Given the description of an element on the screen output the (x, y) to click on. 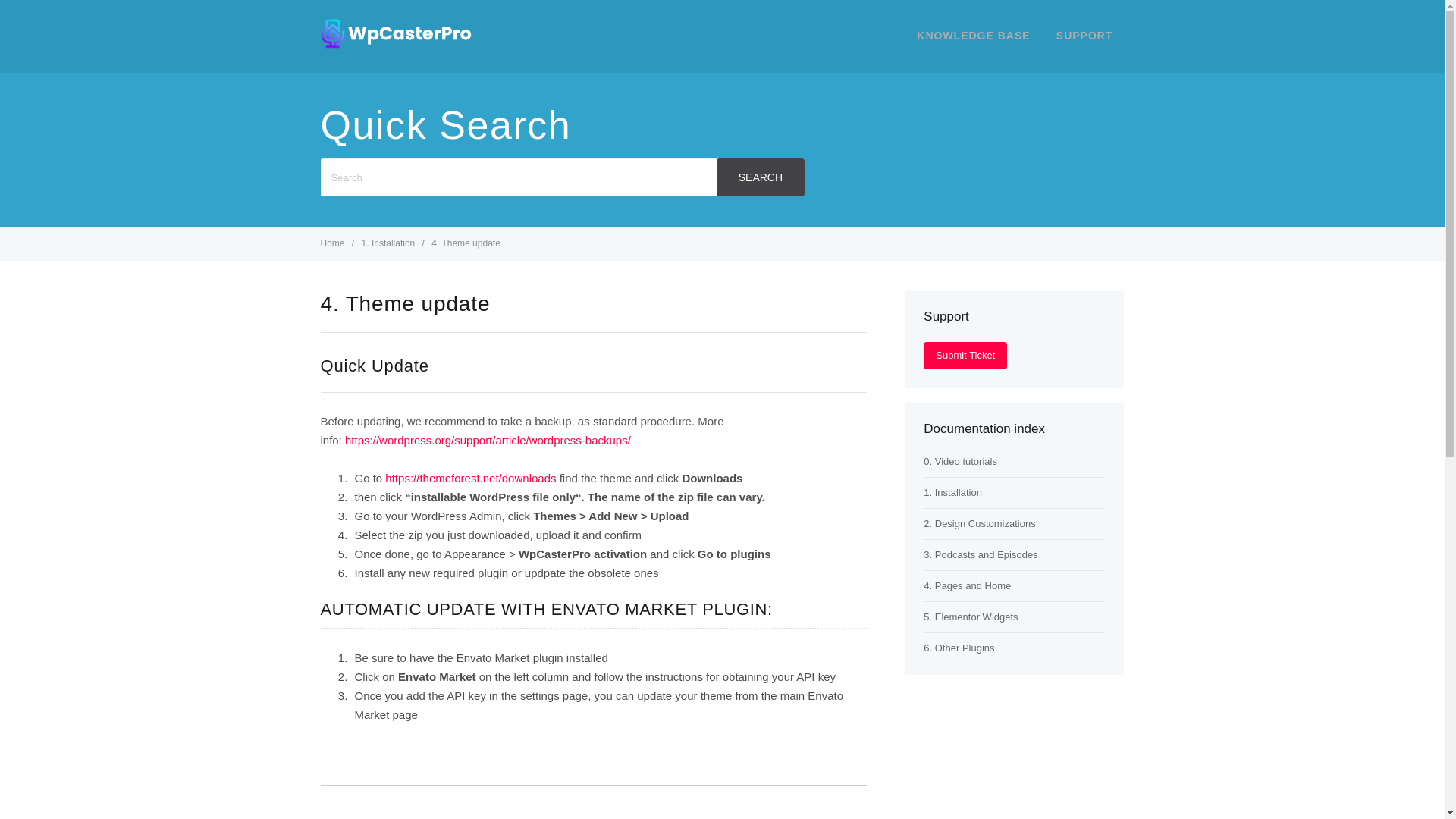
SUPPORT (1084, 35)
1. Installation (952, 491)
3. Podcasts and Episodes (979, 554)
Submit Ticket (965, 355)
5. Elementor Widgets (970, 616)
0. Video tutorials (960, 460)
1. Installation (389, 243)
4. Pages and Home (966, 585)
WpCastrer Pro WordPress Theme manual (395, 43)
2. Design Customizations (979, 523)
